Given the description of an element on the screen output the (x, y) to click on. 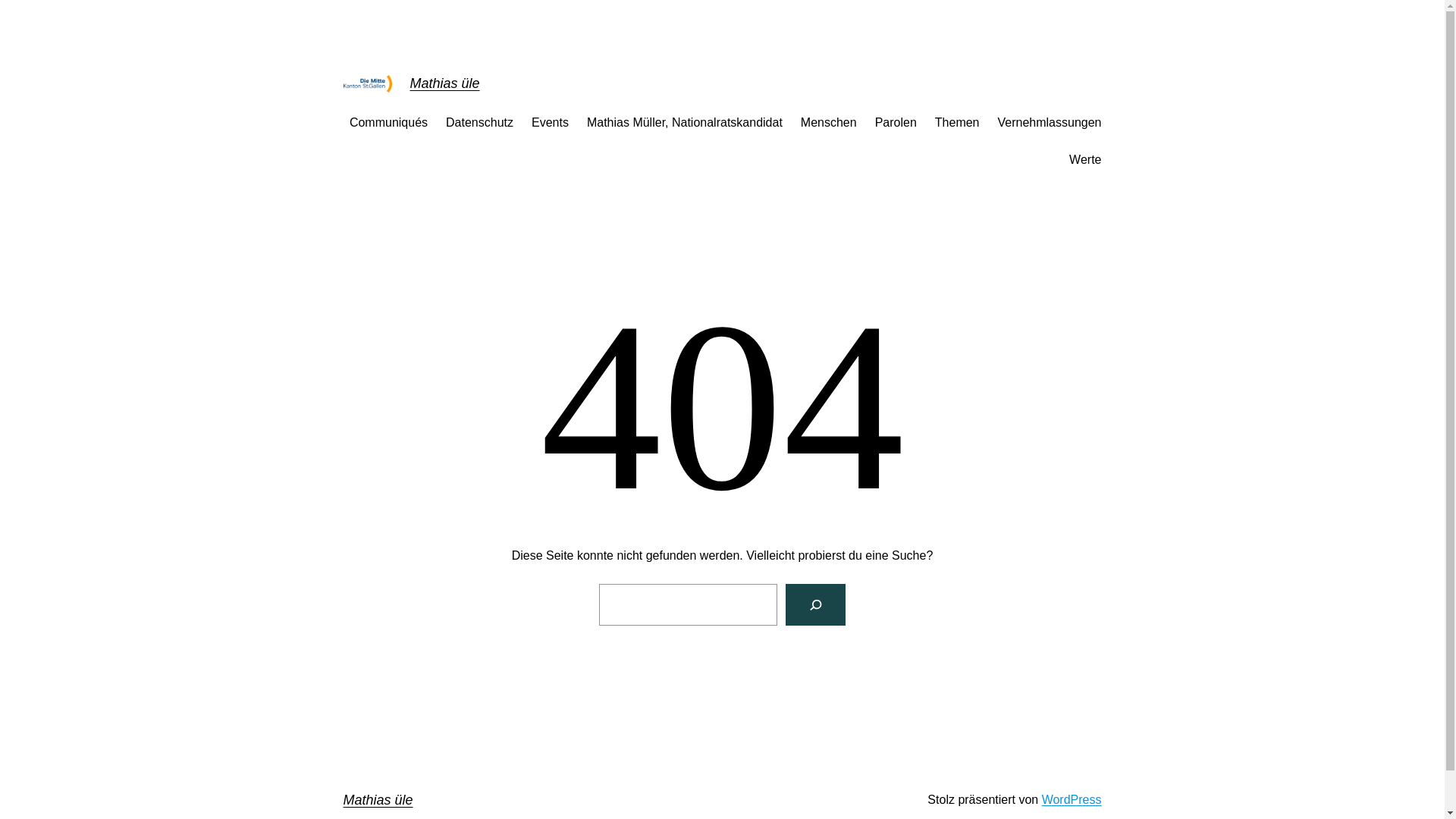
Datenschutz Element type: text (479, 122)
Events Element type: text (549, 122)
WordPress Element type: text (1071, 799)
Parolen Element type: text (895, 122)
Menschen Element type: text (828, 122)
Vernehmlassungen Element type: text (1049, 122)
Themen Element type: text (957, 122)
Werte Element type: text (1085, 159)
